Given the description of an element on the screen output the (x, y) to click on. 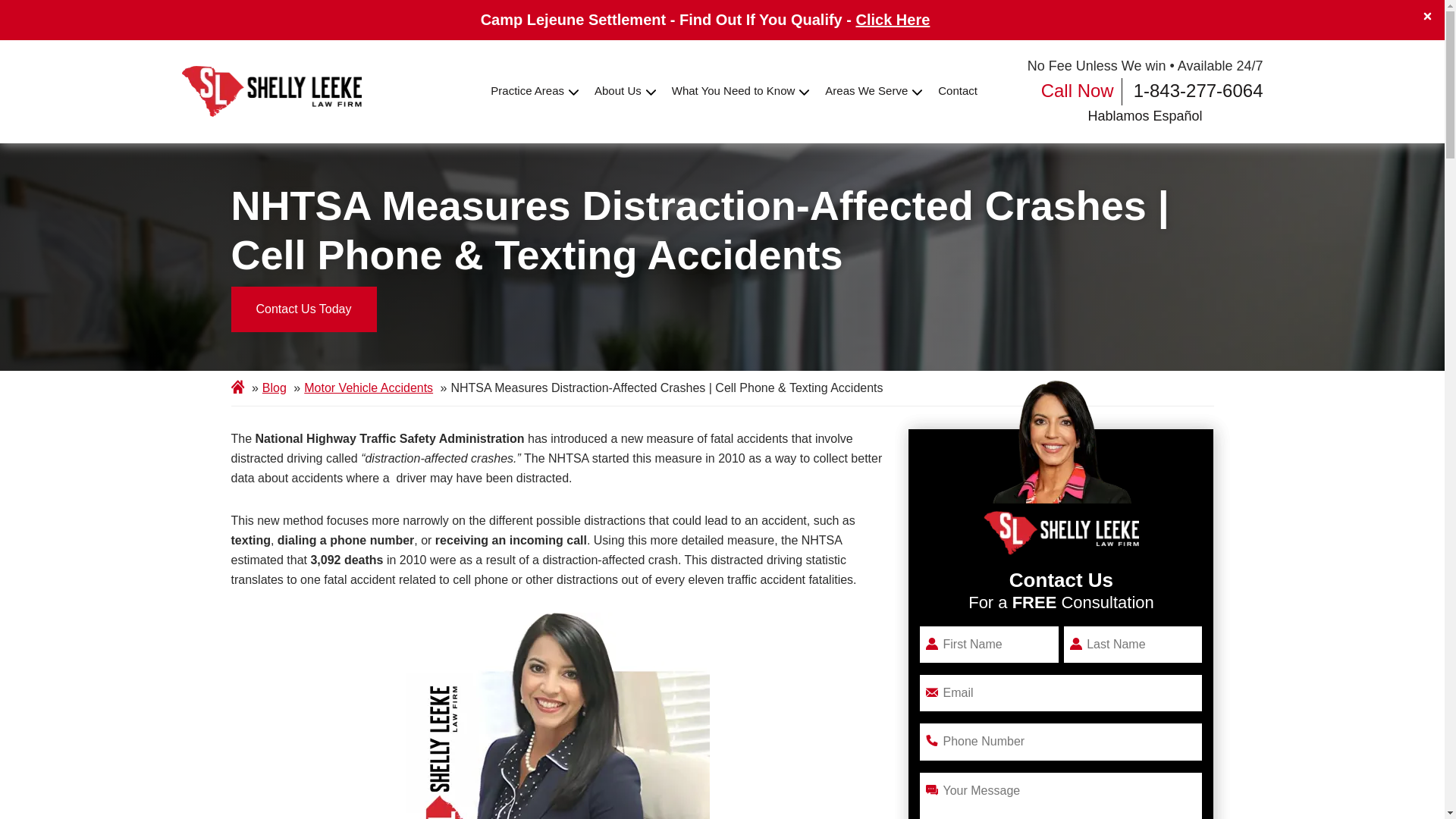
Areas We Serve (865, 90)
About Us (617, 90)
What You Need to Know (733, 90)
Click Here (893, 19)
Shelly Leeke Law Firm, LLC (272, 91)
Practice Areas (527, 90)
